Given the description of an element on the screen output the (x, y) to click on. 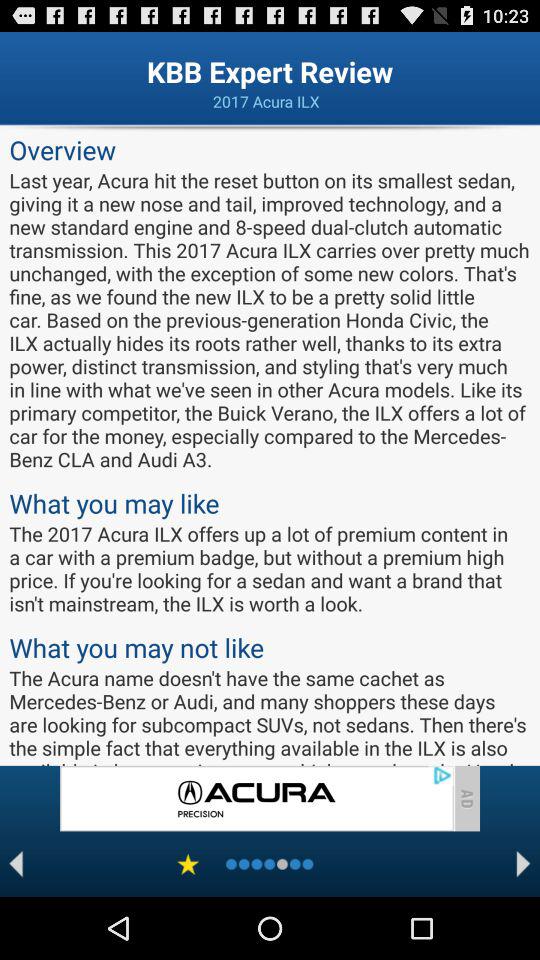
go back (16, 864)
